Given the description of an element on the screen output the (x, y) to click on. 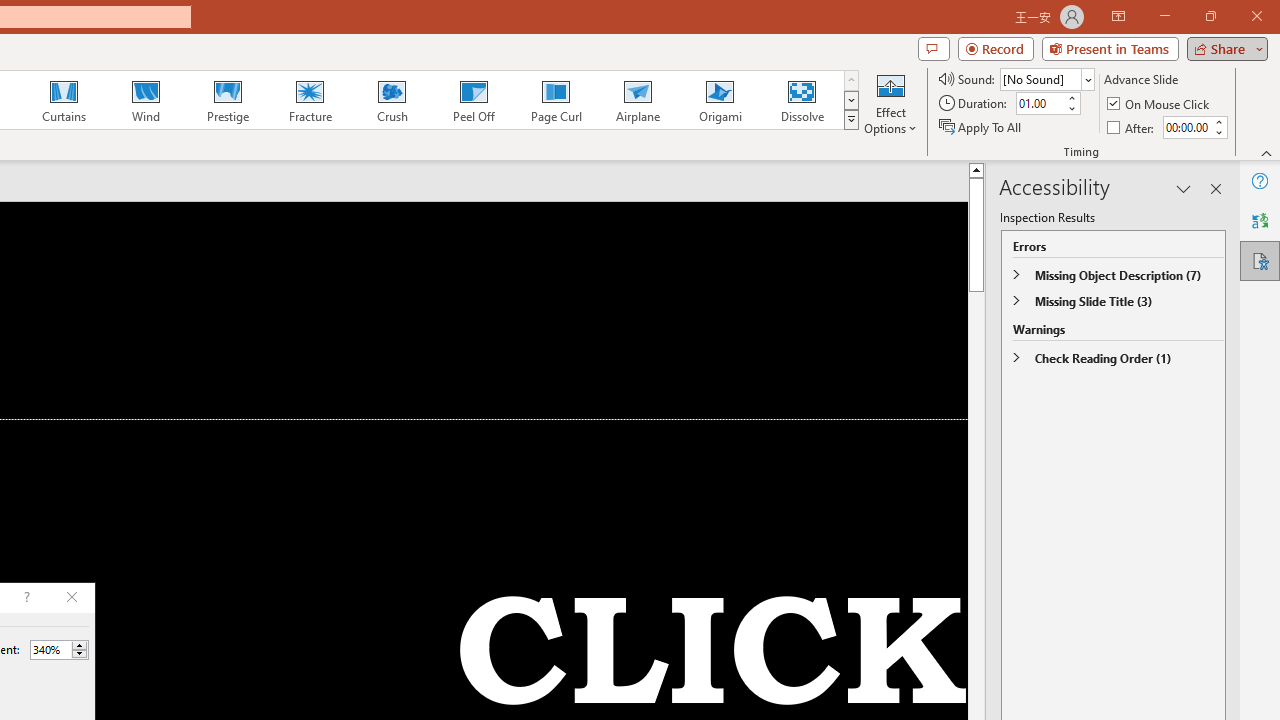
Percent (50, 649)
Peel Off (473, 100)
Prestige (227, 100)
Context help (25, 597)
Page Curl (555, 100)
Apply To All (981, 126)
After (1131, 126)
Sound (1046, 78)
Dissolve (802, 100)
